Given the description of an element on the screen output the (x, y) to click on. 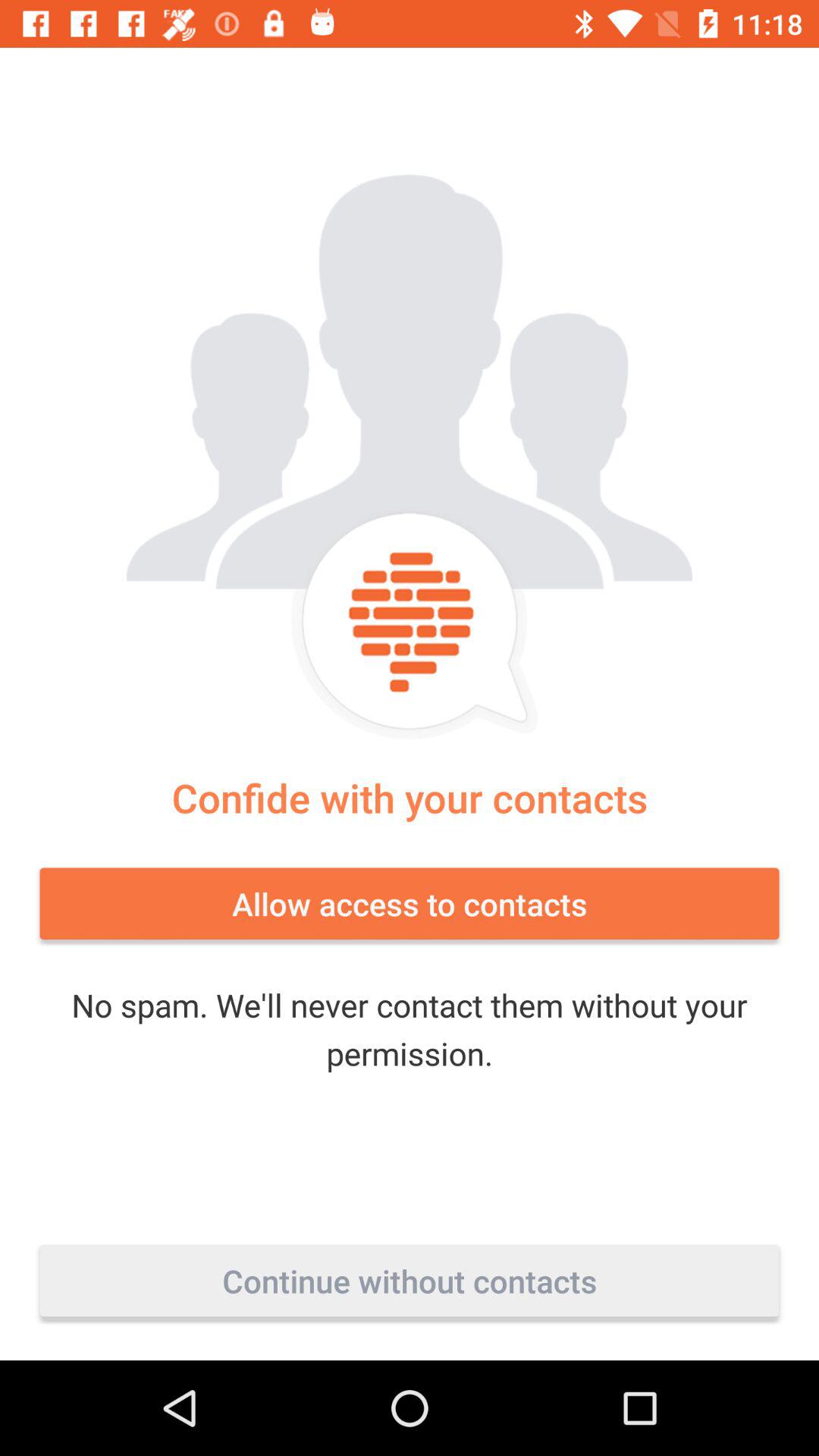
select the item below no spam we item (409, 1280)
